Given the description of an element on the screen output the (x, y) to click on. 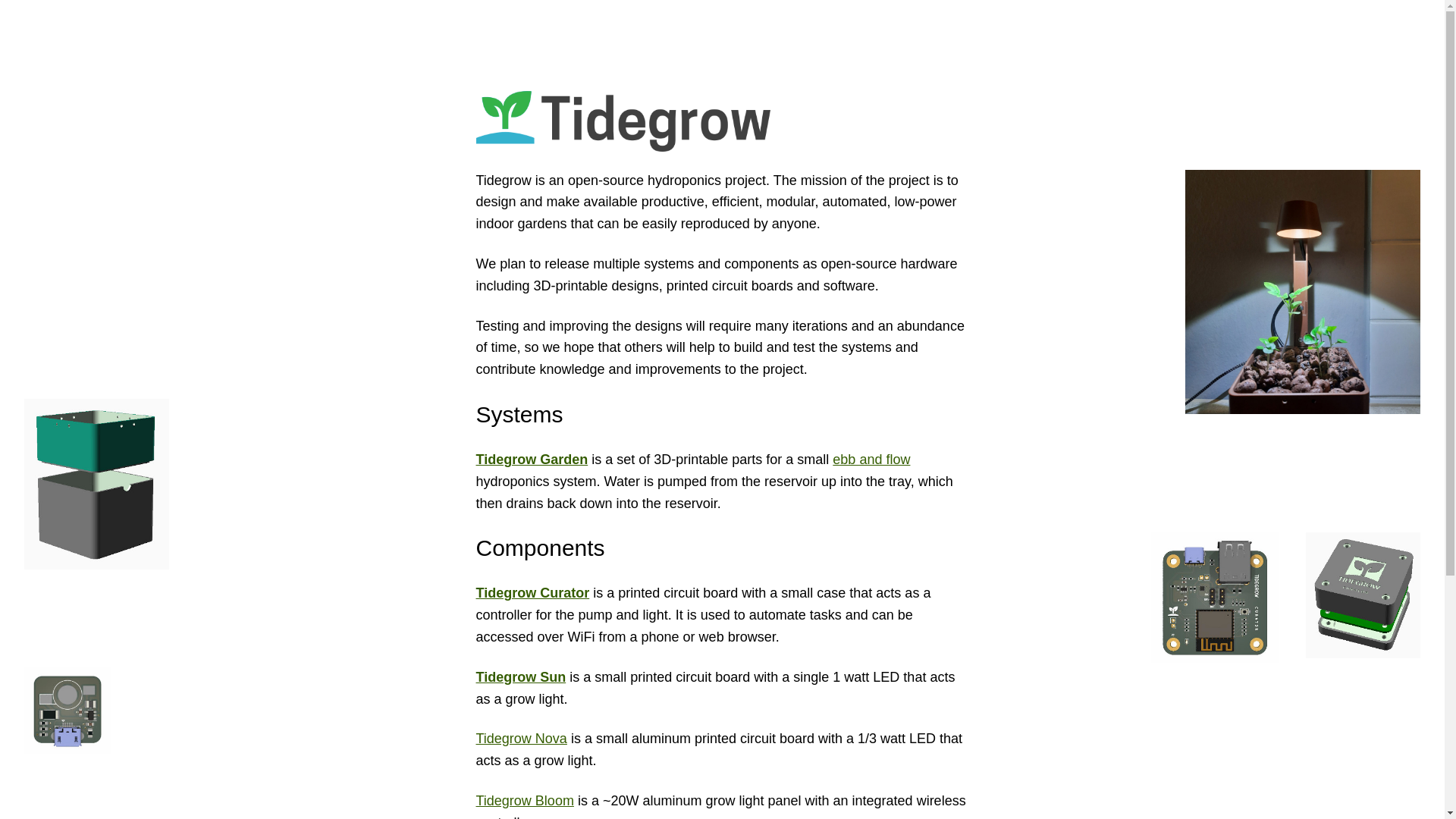
Tidegrow Nova (521, 738)
Tidegrow Sun (521, 676)
ebb and flow (871, 459)
Tidegrow Garden (532, 459)
Tidegrow Bloom (524, 800)
Tidegrow Curator (532, 592)
